Given the description of an element on the screen output the (x, y) to click on. 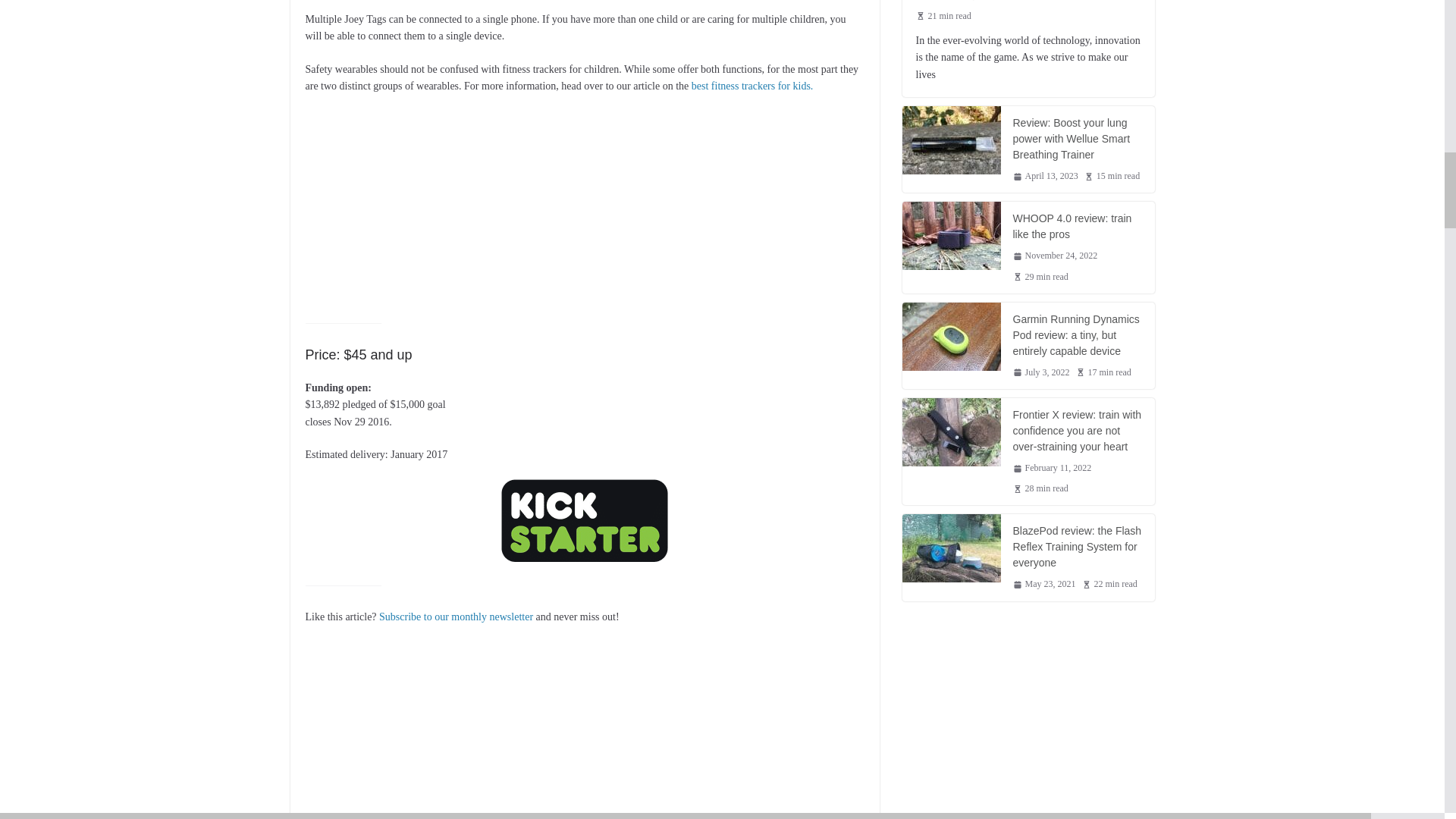
The Joey Tag: Child safety wearable with short-range GPS (584, 520)
